Given the description of an element on the screen output the (x, y) to click on. 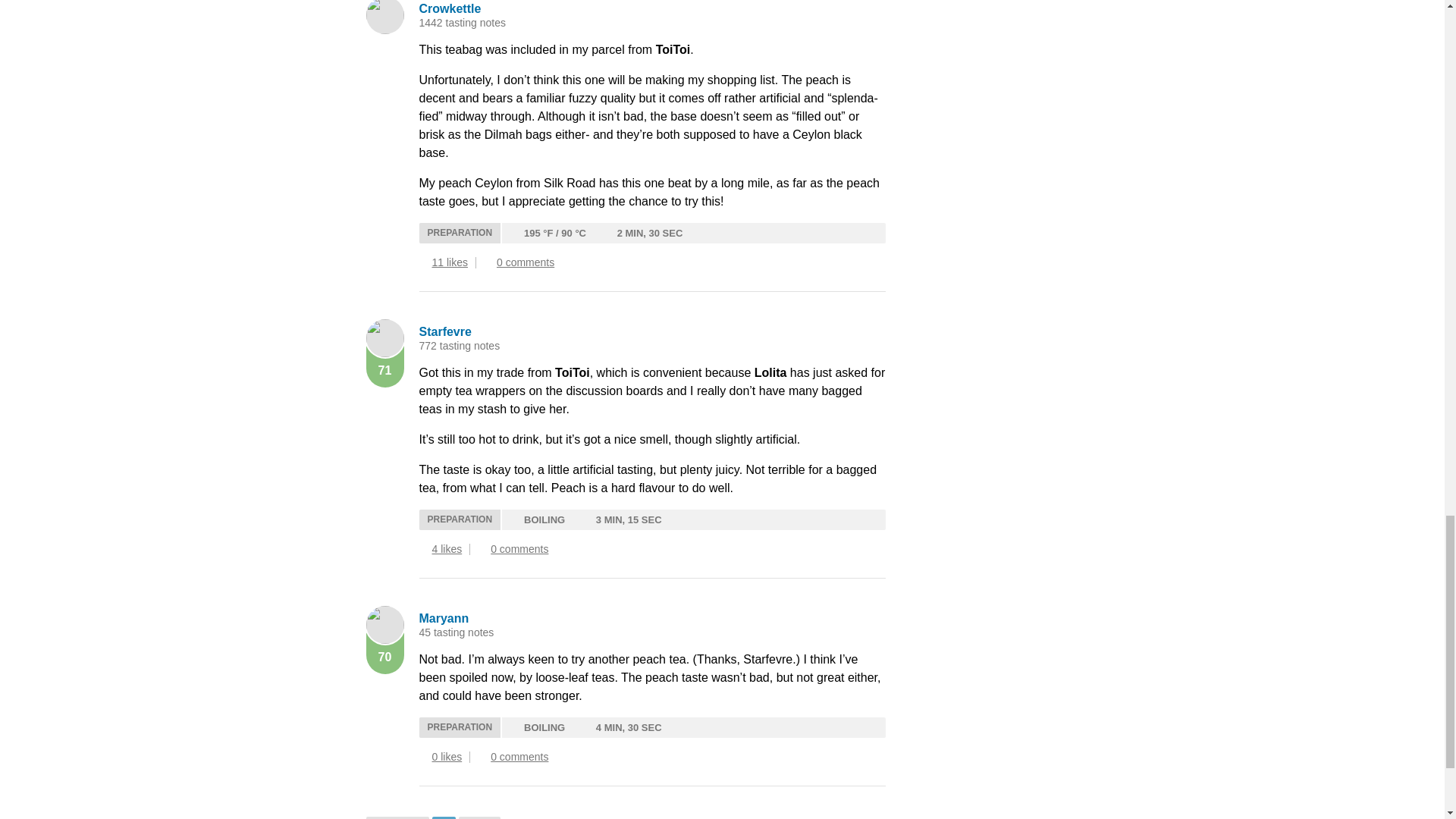
Like This (423, 757)
Like This (423, 549)
Like This (423, 262)
